Given the description of an element on the screen output the (x, y) to click on. 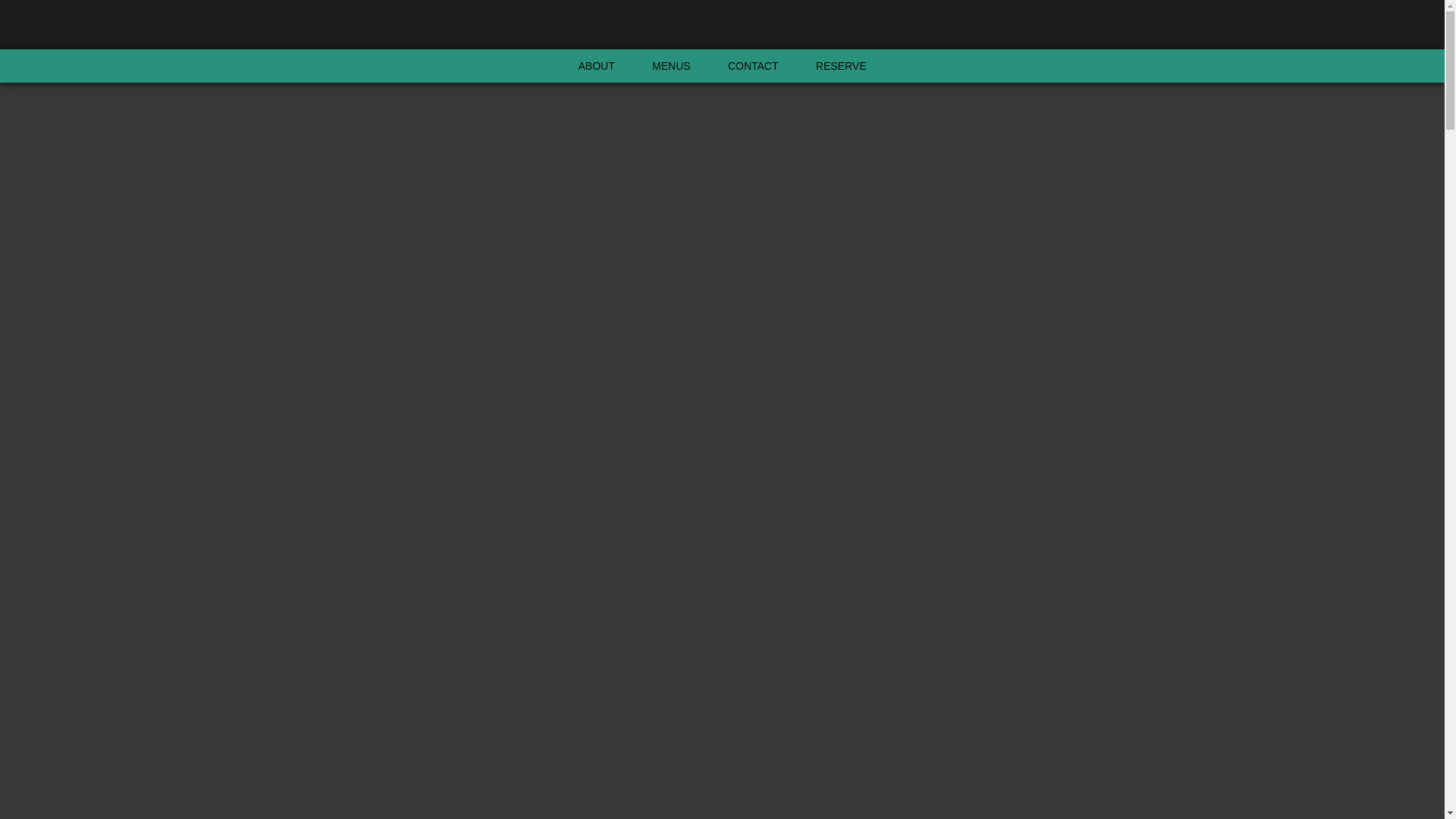
CONTACT Element type: text (753, 65)
MENUS Element type: text (671, 65)
RESERVE Element type: text (840, 65)
ABOUT Element type: text (595, 65)
